Given the description of an element on the screen output the (x, y) to click on. 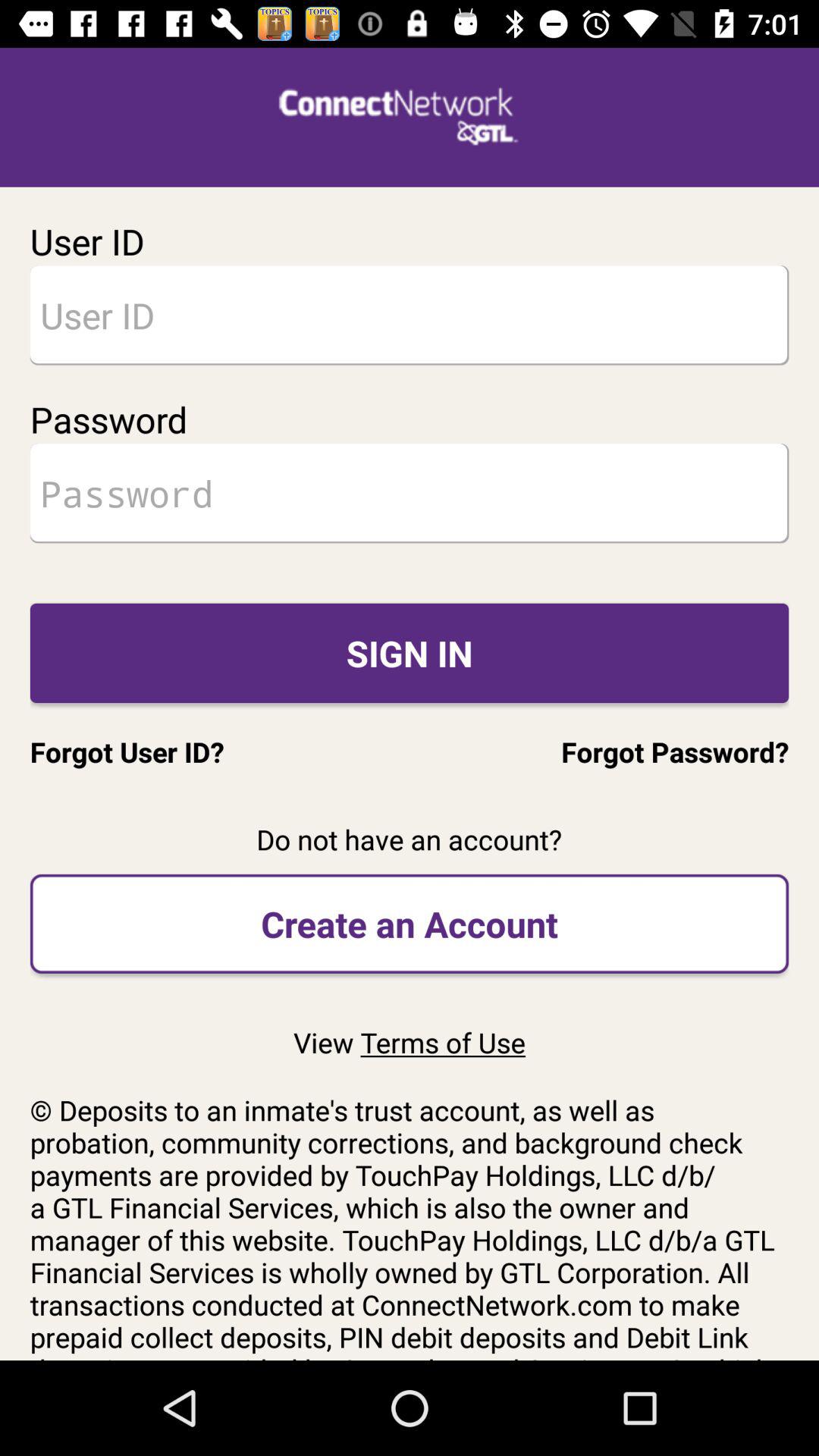
launch sign in (409, 652)
